Given the description of an element on the screen output the (x, y) to click on. 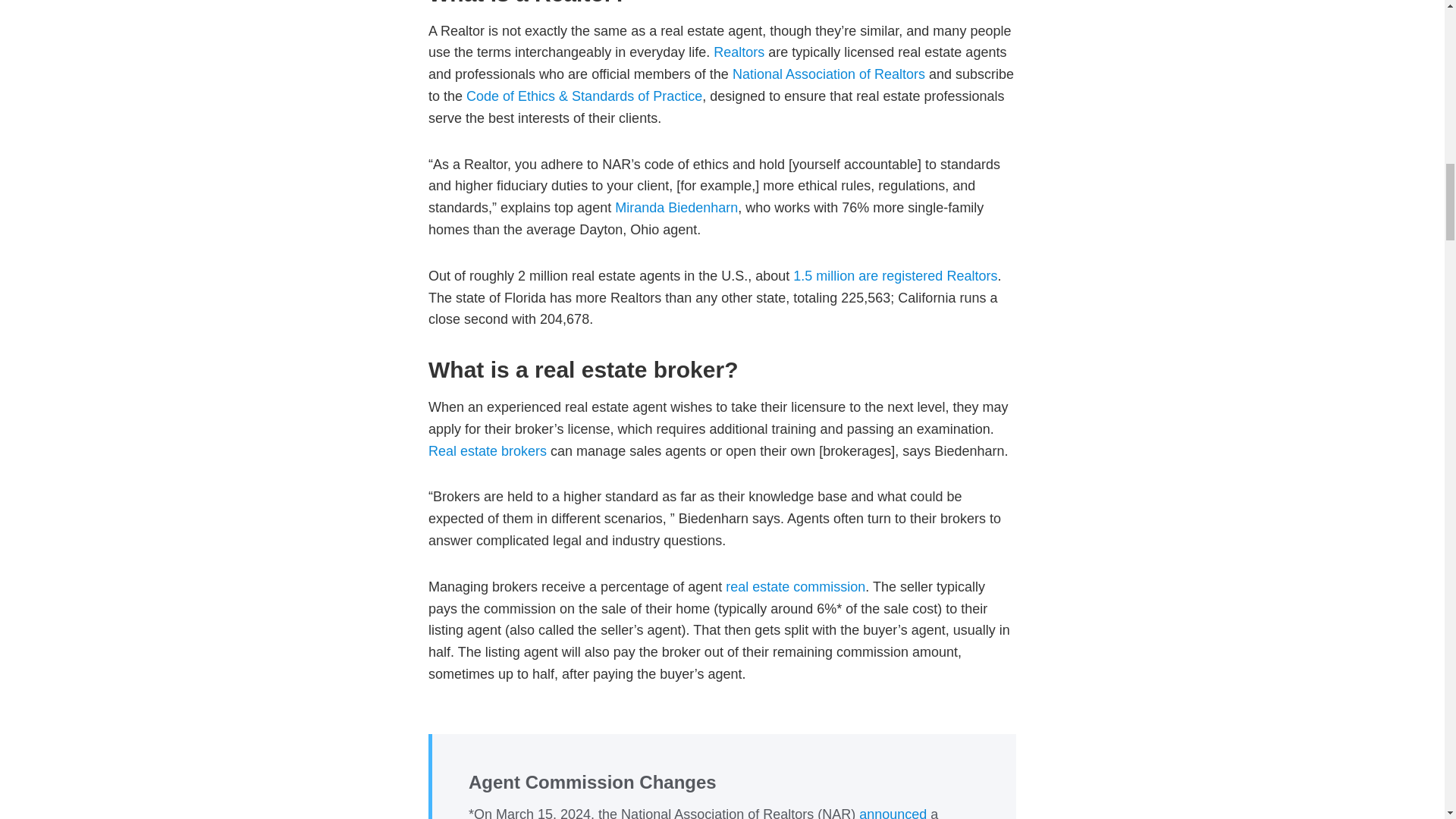
Realtors (738, 52)
